Given the description of an element on the screen output the (x, y) to click on. 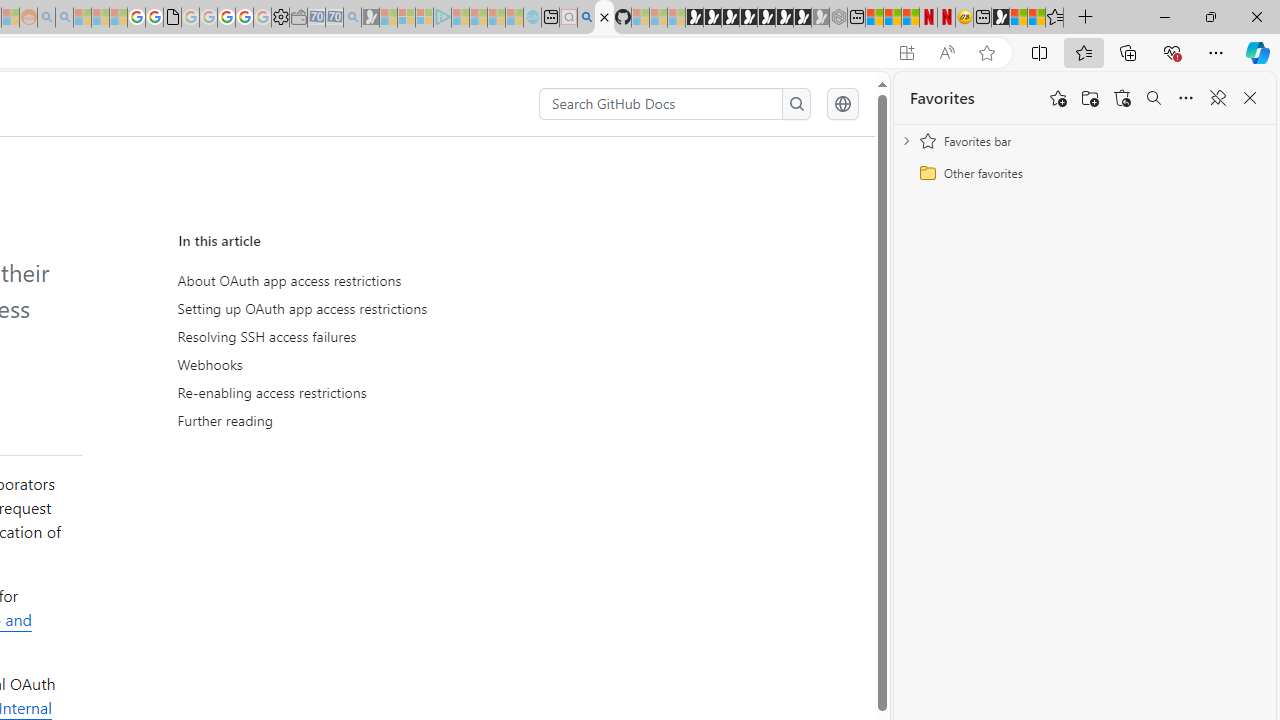
About OAuth app access restrictions (362, 281)
Resolving SSH access failures (365, 337)
Further reading (365, 420)
Wildlife - MSN (1017, 17)
